Given the description of an element on the screen output the (x, y) to click on. 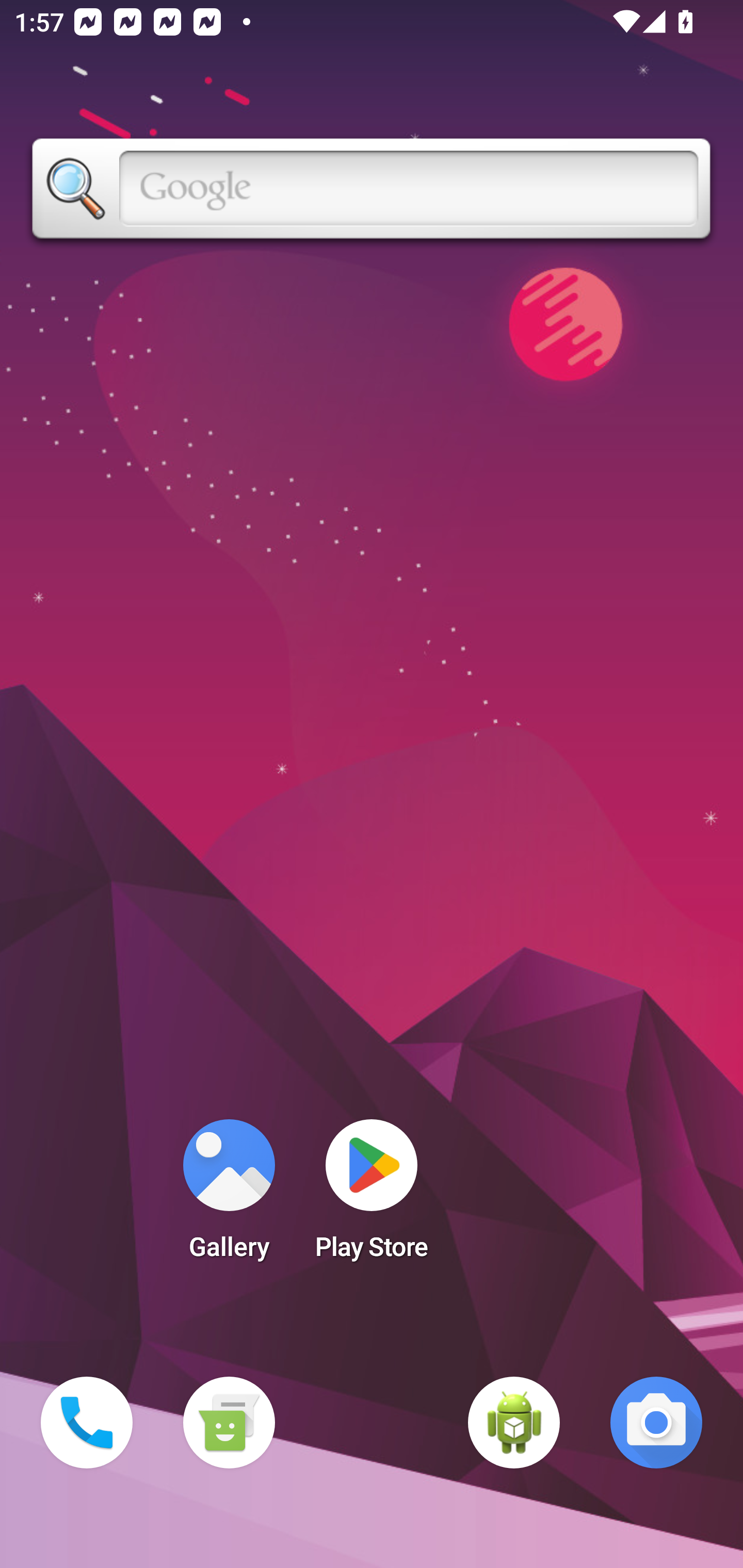
Gallery (228, 1195)
Play Store (371, 1195)
Phone (86, 1422)
Messaging (228, 1422)
WebView Browser Tester (513, 1422)
Camera (656, 1422)
